Given the description of an element on the screen output the (x, y) to click on. 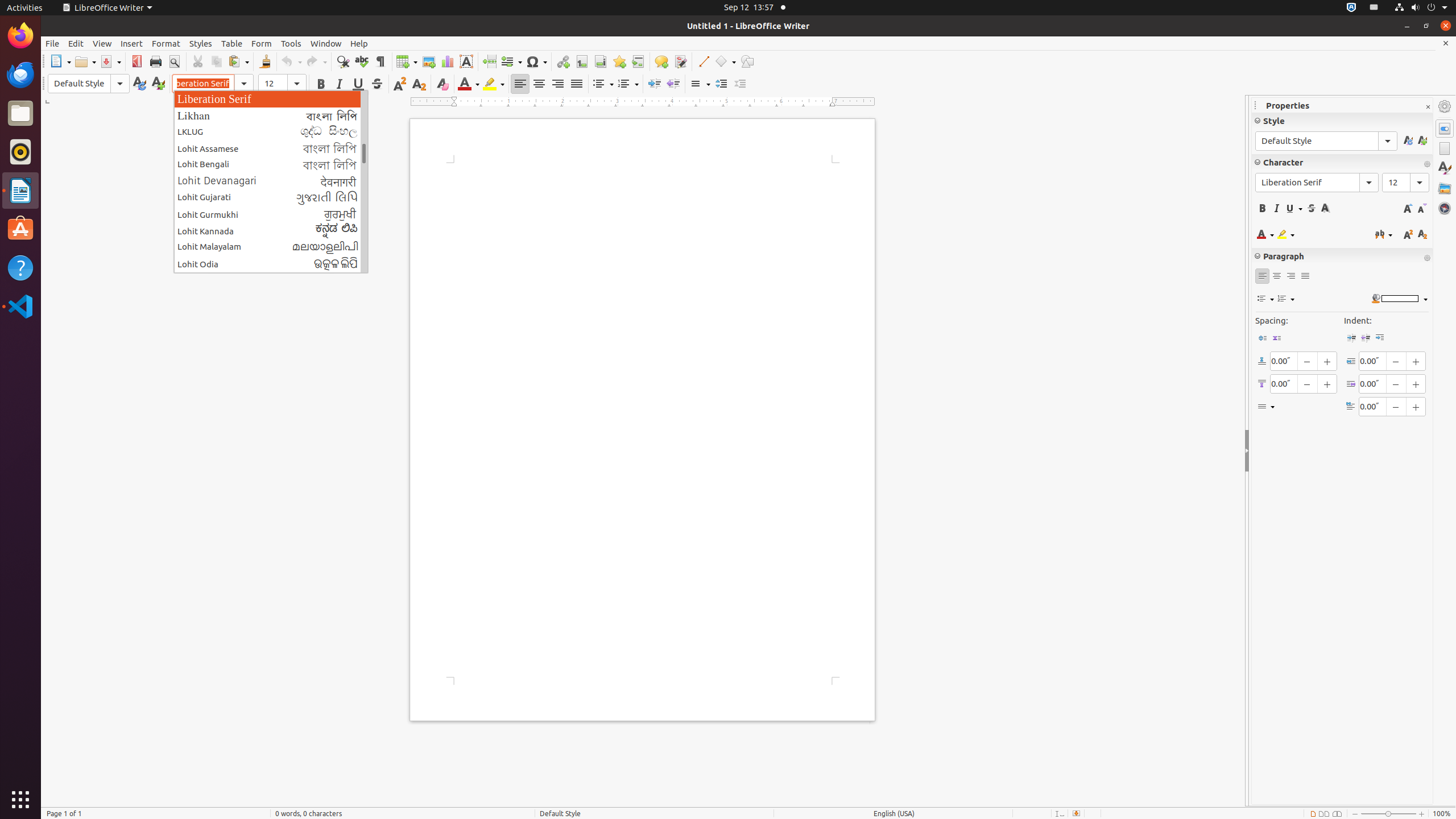
Page Break Element type: push-button (489, 61)
Comment Element type: push-button (660, 61)
Print Element type: push-button (155, 61)
Open Element type: push-button (84, 61)
Paste Element type: push-button (237, 61)
